Given the description of an element on the screen output the (x, y) to click on. 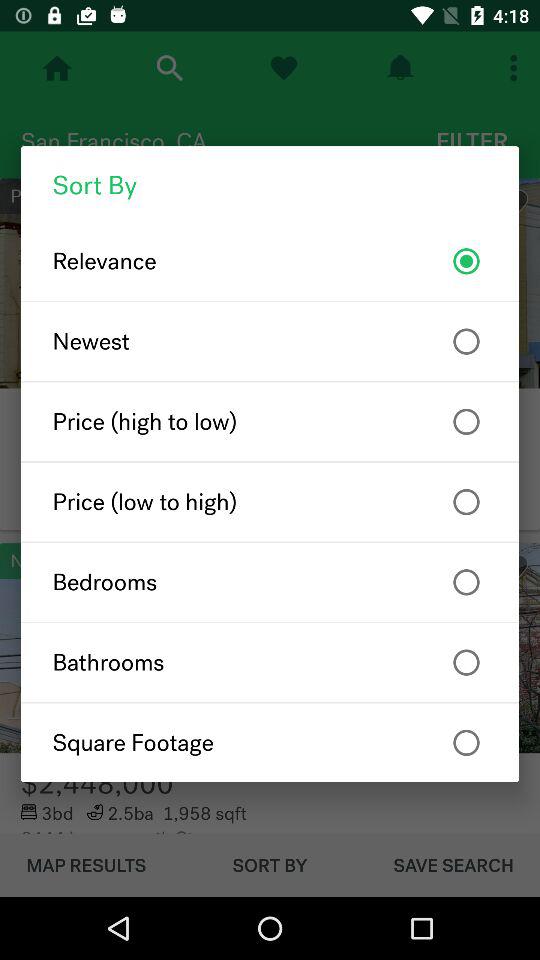
open item below sort by (270, 261)
